Given the description of an element on the screen output the (x, y) to click on. 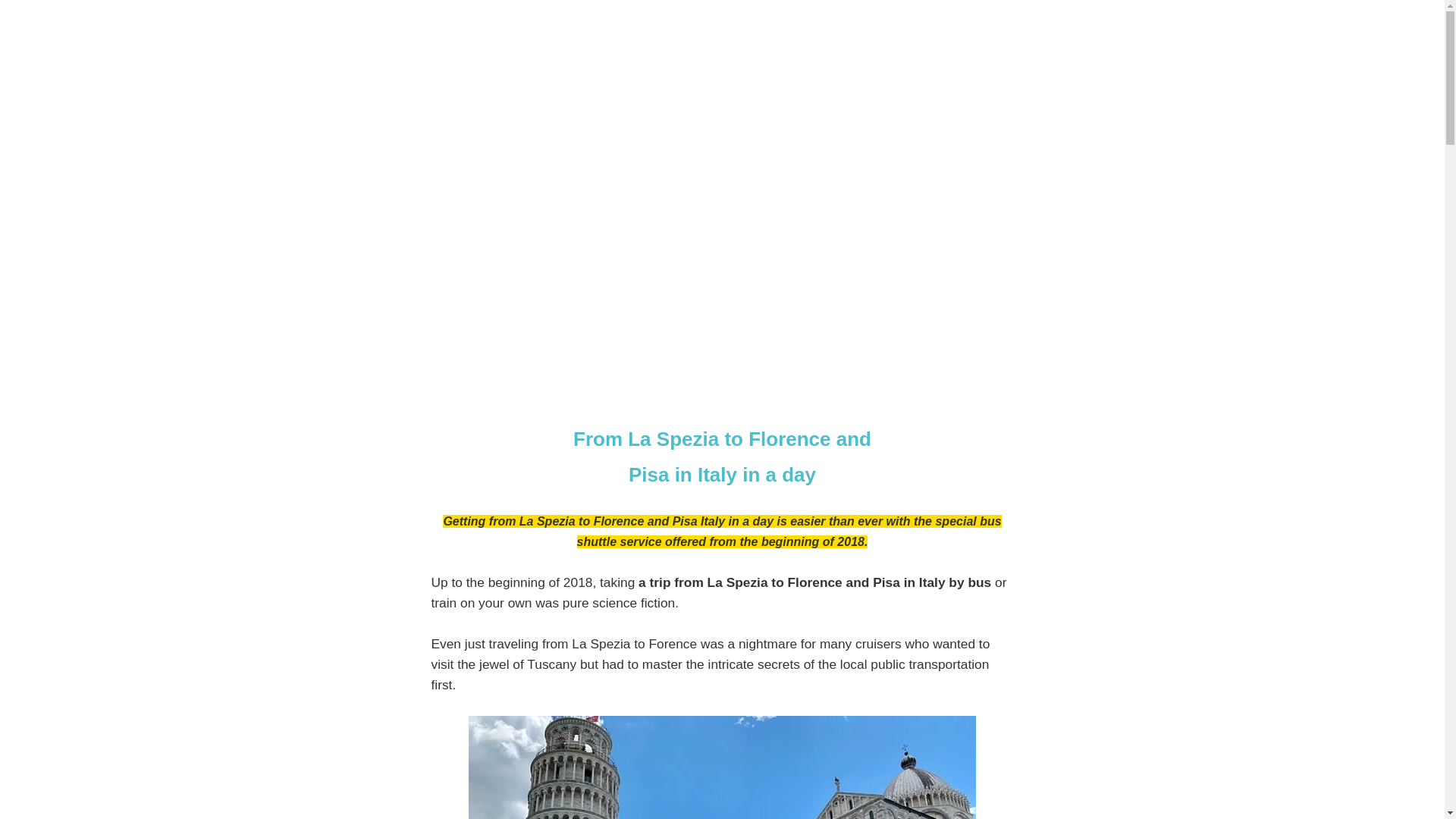
LaSpeziaPisaFlorence (721, 767)
